Given the description of an element on the screen output the (x, y) to click on. 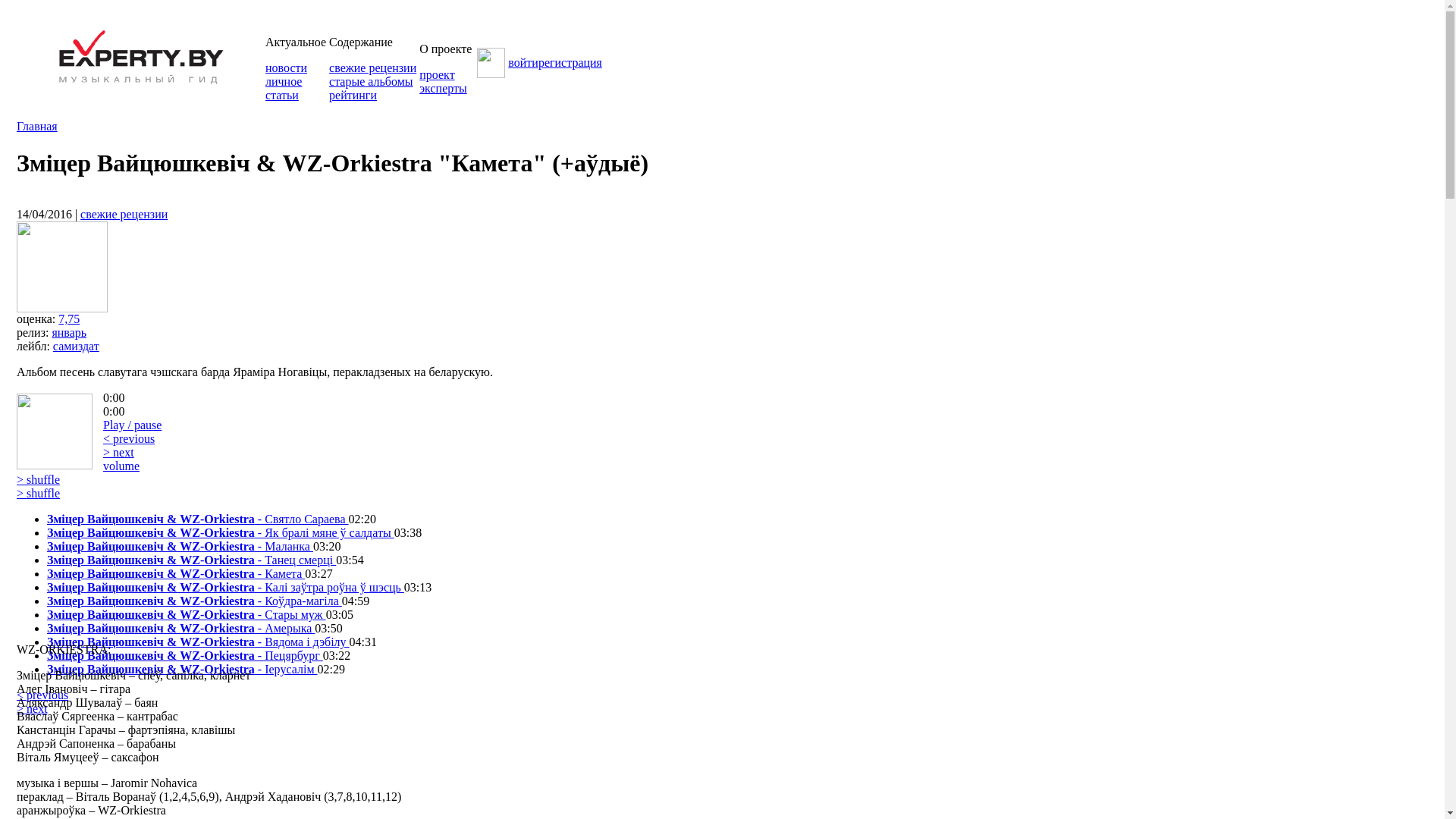
Play / pause Element type: text (132, 424)
> shuffle Element type: text (37, 492)
> next Element type: text (118, 451)
< previous Element type: text (128, 438)
> next Element type: text (31, 708)
volume Element type: text (121, 465)
7,75 Element type: text (68, 318)
> shuffle Element type: text (37, 479)
< previous Element type: text (42, 694)
